Given the description of an element on the screen output the (x, y) to click on. 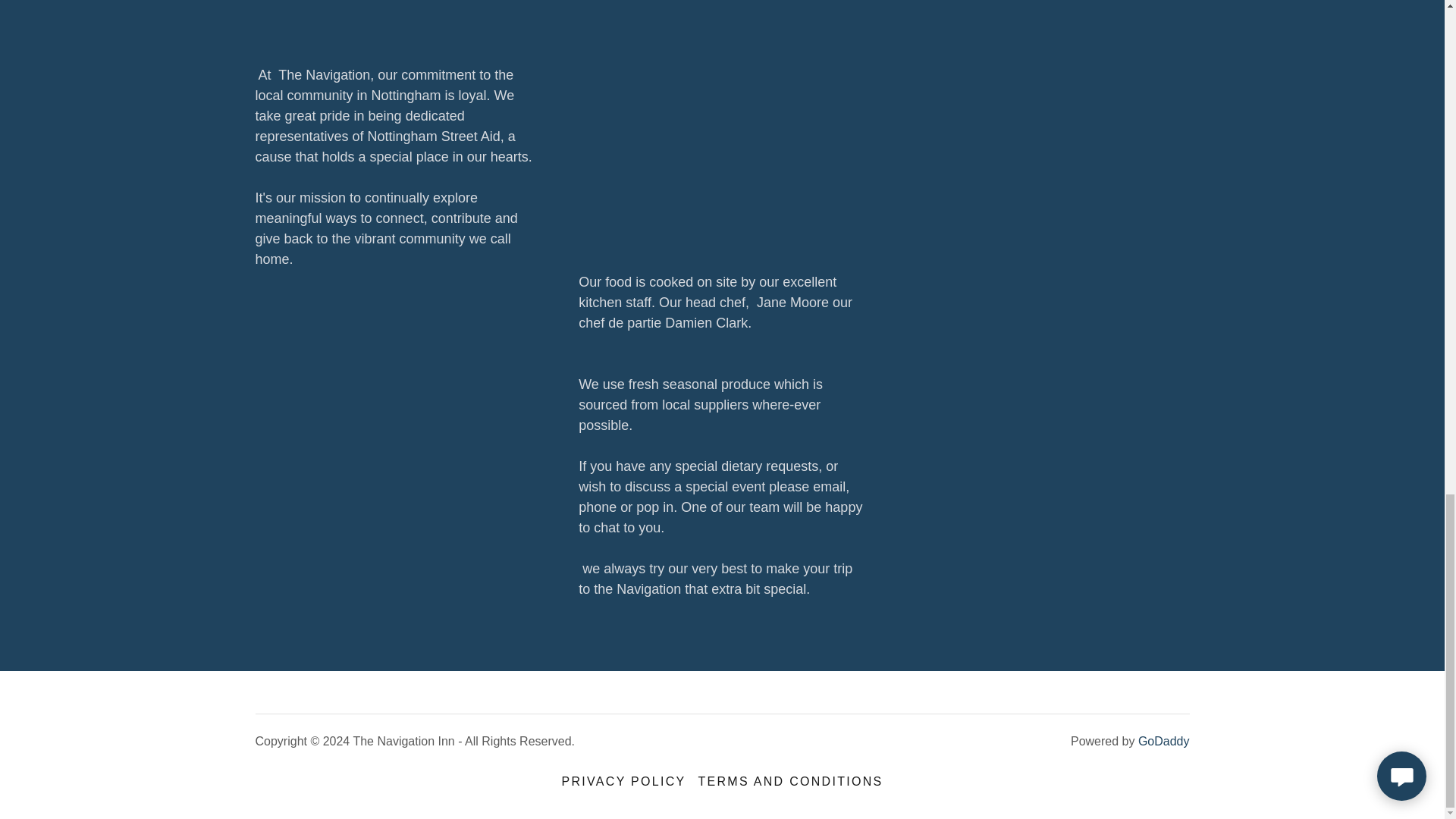
GoDaddy (1163, 740)
PRIVACY POLICY (624, 781)
TERMS AND CONDITIONS (789, 781)
